Given the description of an element on the screen output the (x, y) to click on. 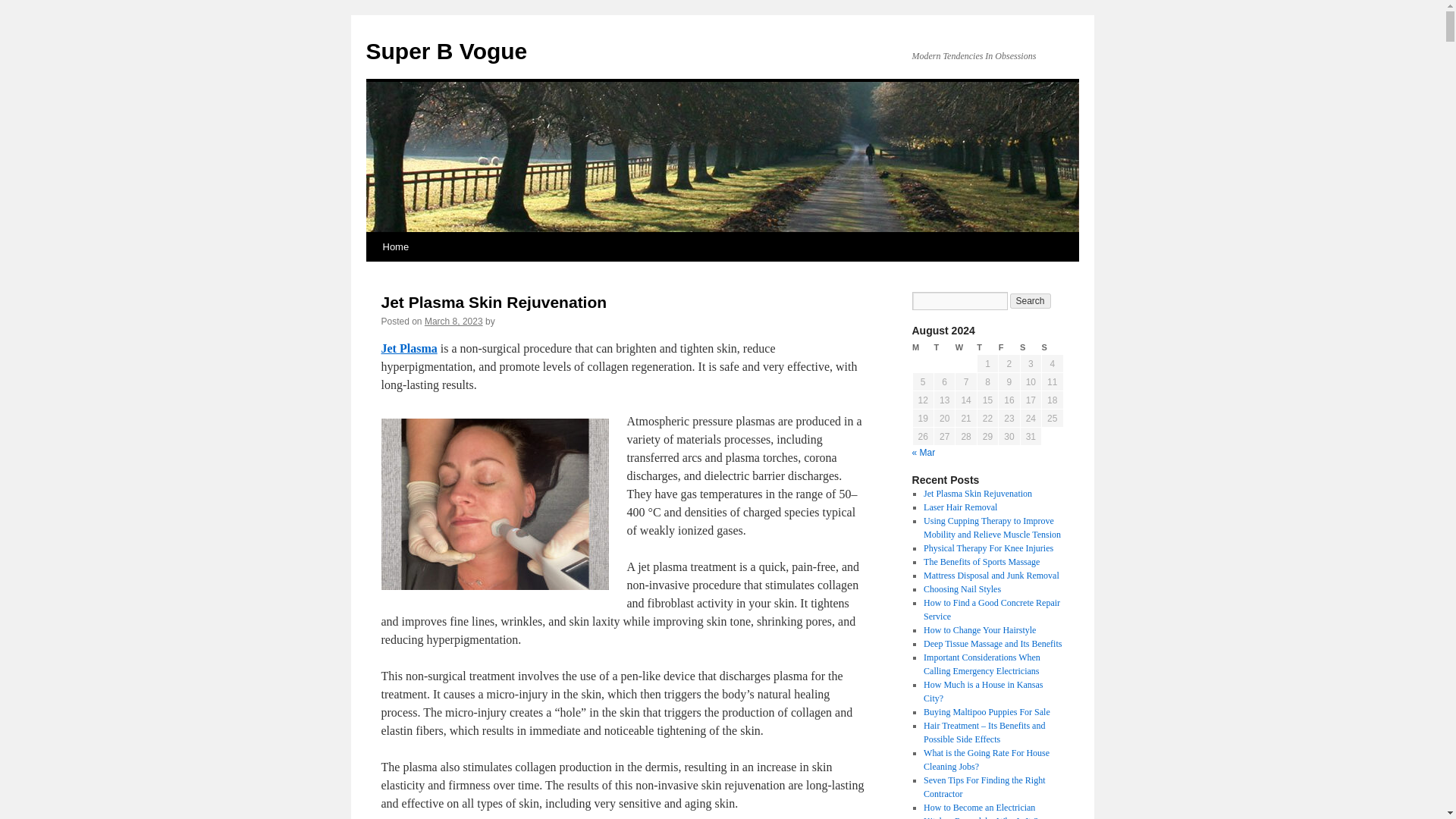
Jet Plasma Skin Rejuvenation (493, 302)
Jet Plasma (408, 348)
Search (1030, 300)
Home (395, 246)
Super B Vogue (446, 50)
March 8, 2023 (454, 321)
3:56 am (454, 321)
